Given the description of an element on the screen output the (x, y) to click on. 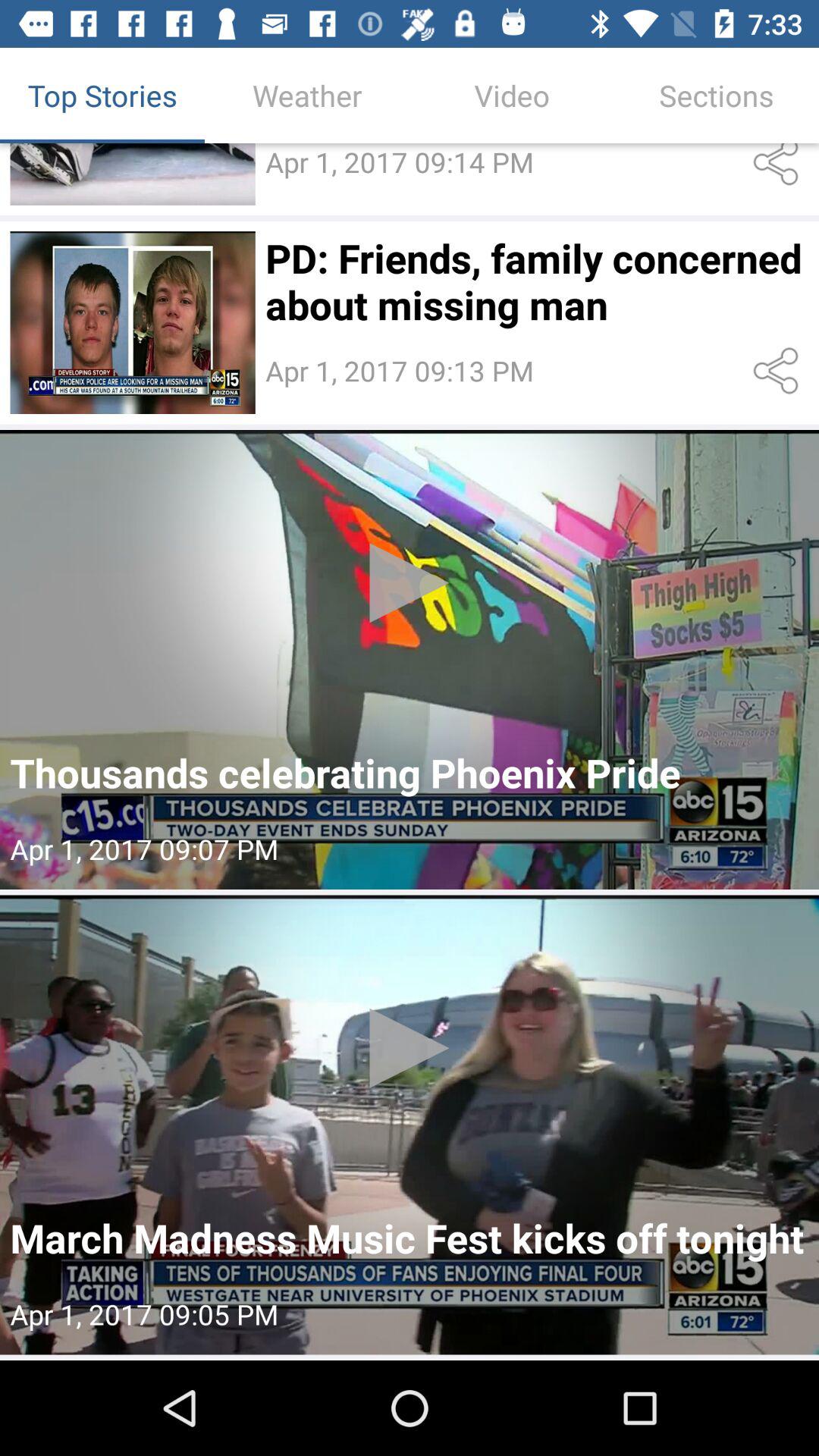
the text video shown next to weather at the top of the page (511, 95)
click on first share icon (779, 167)
